Given the description of an element on the screen output the (x, y) to click on. 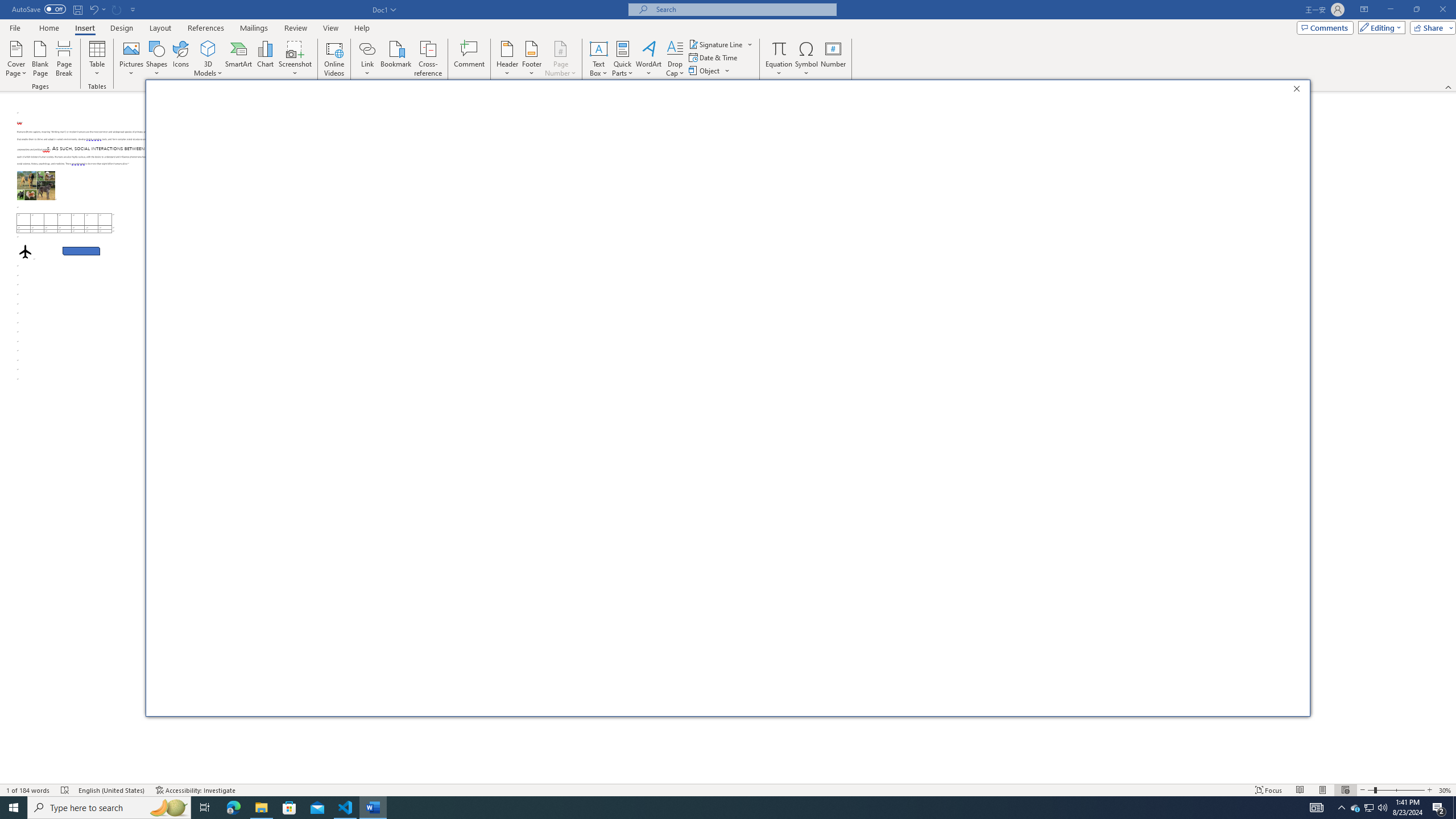
Link (367, 58)
Cartoon People (440, 146)
Blank Page (40, 58)
Microsoft search (742, 9)
Link (367, 48)
Chart... (265, 58)
WordArt (648, 58)
Accessibility Checker Accessibility: Investigate (195, 790)
Object... (709, 69)
Undo Apply Quick Style Set (92, 9)
Date & Time... (714, 56)
Online Videos... (333, 58)
